Given the description of an element on the screen output the (x, y) to click on. 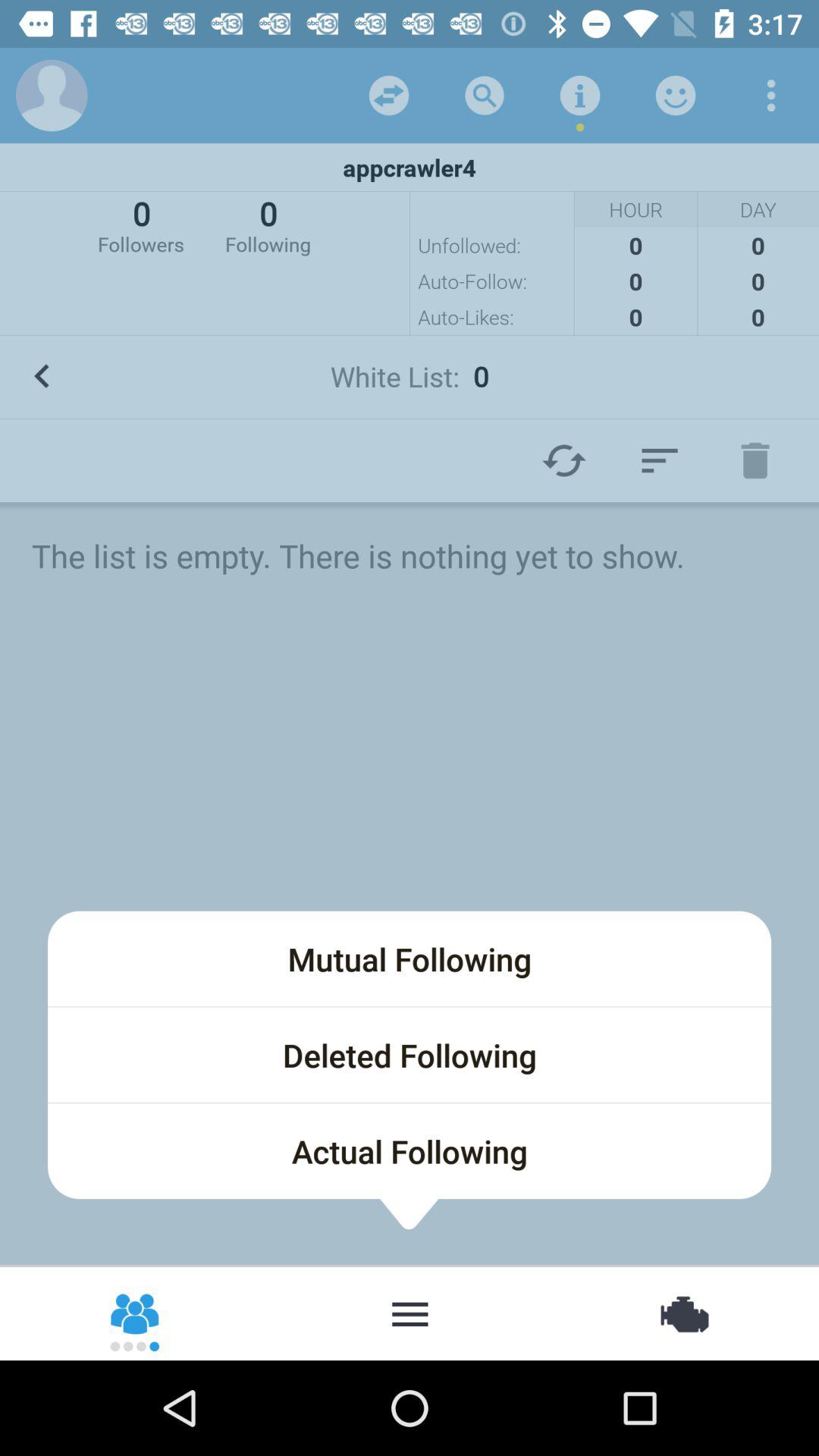
add display picture (51, 95)
